Given the description of an element on the screen output the (x, y) to click on. 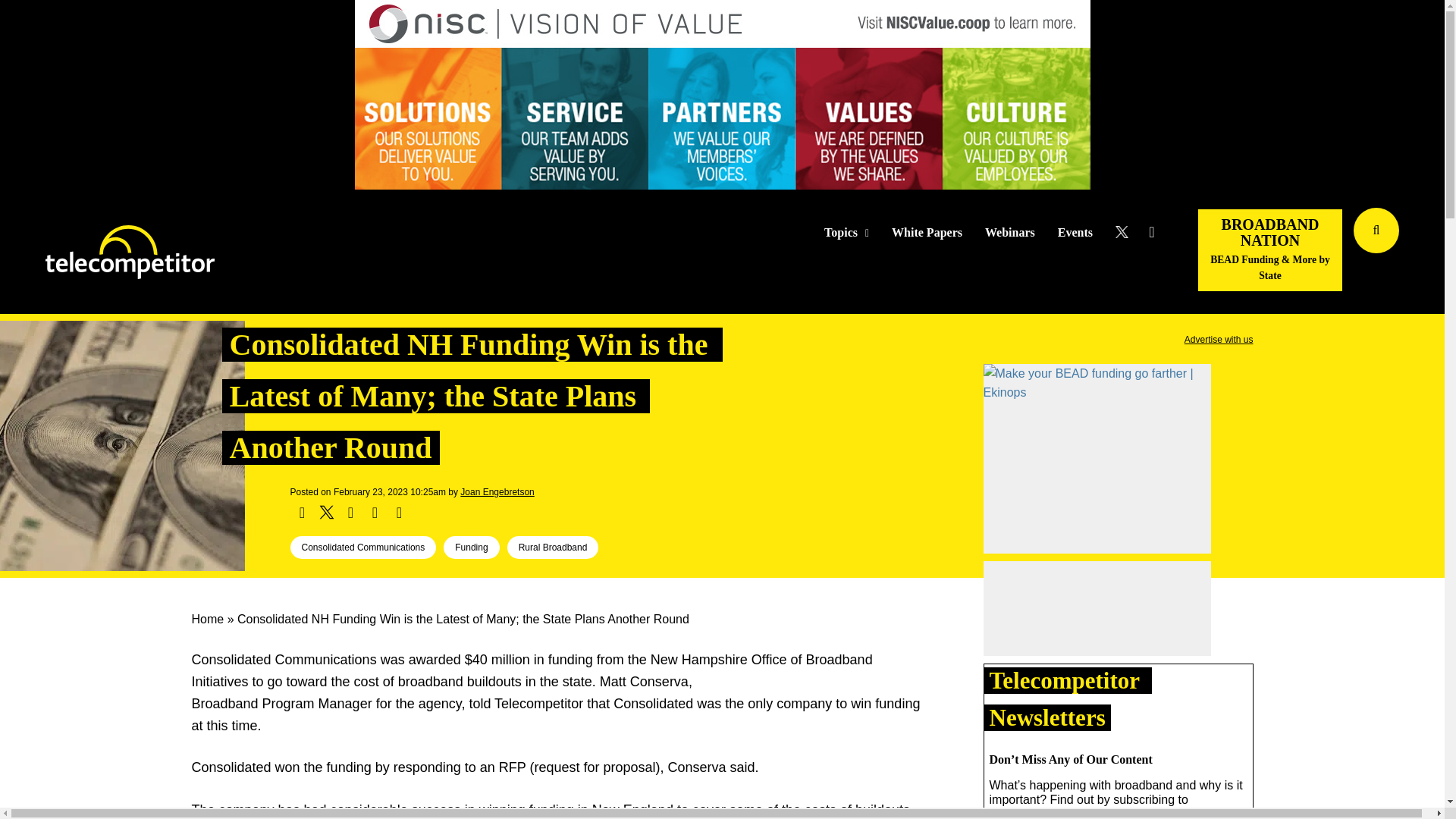
Share on Facebook (301, 512)
Share on Linked In (349, 512)
White Papers (927, 232)
Follow Us on LinkedIN (1151, 232)
Spread the word on Twitter (325, 512)
Topics (846, 232)
Events (1074, 232)
Search telecompetitor.com (1376, 230)
Webinars (1010, 232)
